Given the description of an element on the screen output the (x, y) to click on. 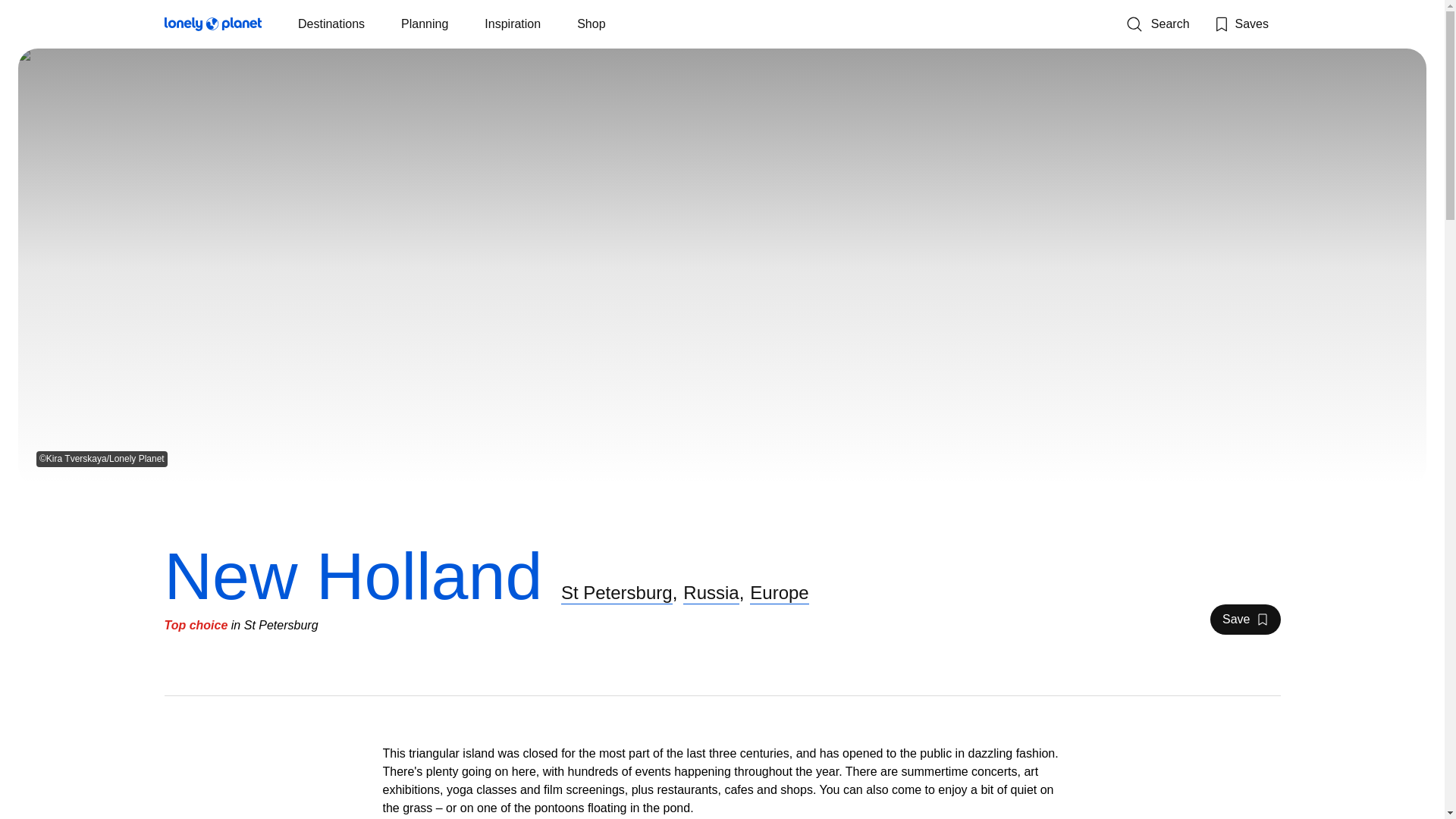
Europe (778, 592)
St Petersburg (616, 592)
Inspiration (512, 24)
Destinations (330, 24)
Planning (424, 24)
Lonely Planet (211, 26)
Russia (710, 592)
Saves (1240, 24)
Search (1244, 619)
